Given the description of an element on the screen output the (x, y) to click on. 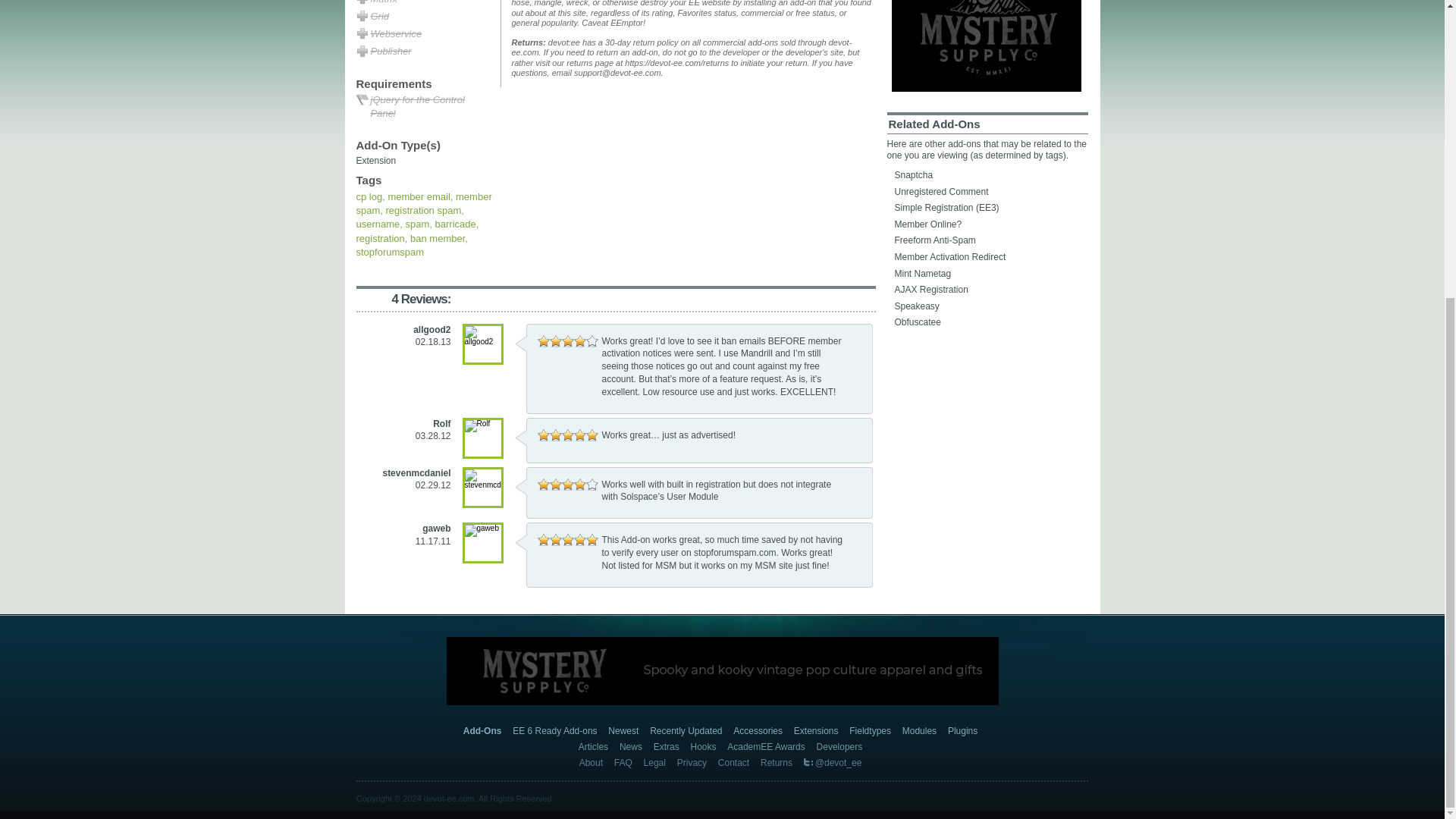
Search entries tagged 'member spam' (424, 203)
Not compatible or untested with Grid (424, 17)
registration spam (423, 210)
Search entries tagged 'member email' (418, 196)
member spam (424, 203)
barricade (455, 224)
Search entries tagged 'barricade' (455, 224)
Search entries tagged 'spam' (417, 224)
Not compatible or untested with Publisher (424, 52)
username (378, 224)
Doesn't require jQuery for the Control Panel (424, 107)
cp log (369, 196)
spam (417, 224)
Search entries tagged 'username' (378, 224)
member email (418, 196)
